Given the description of an element on the screen output the (x, y) to click on. 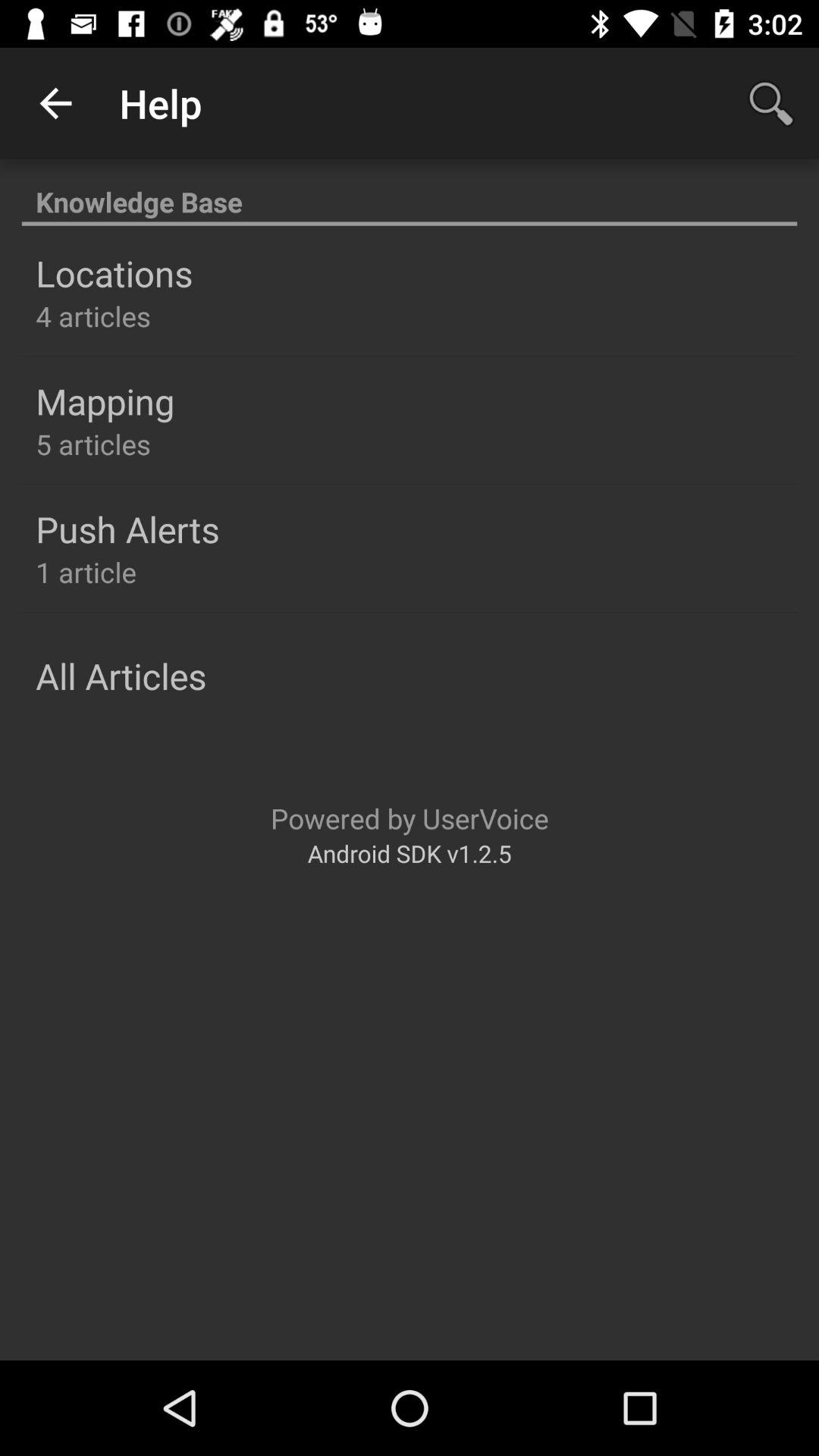
tap the item above knowledge base icon (55, 103)
